Given the description of an element on the screen output the (x, y) to click on. 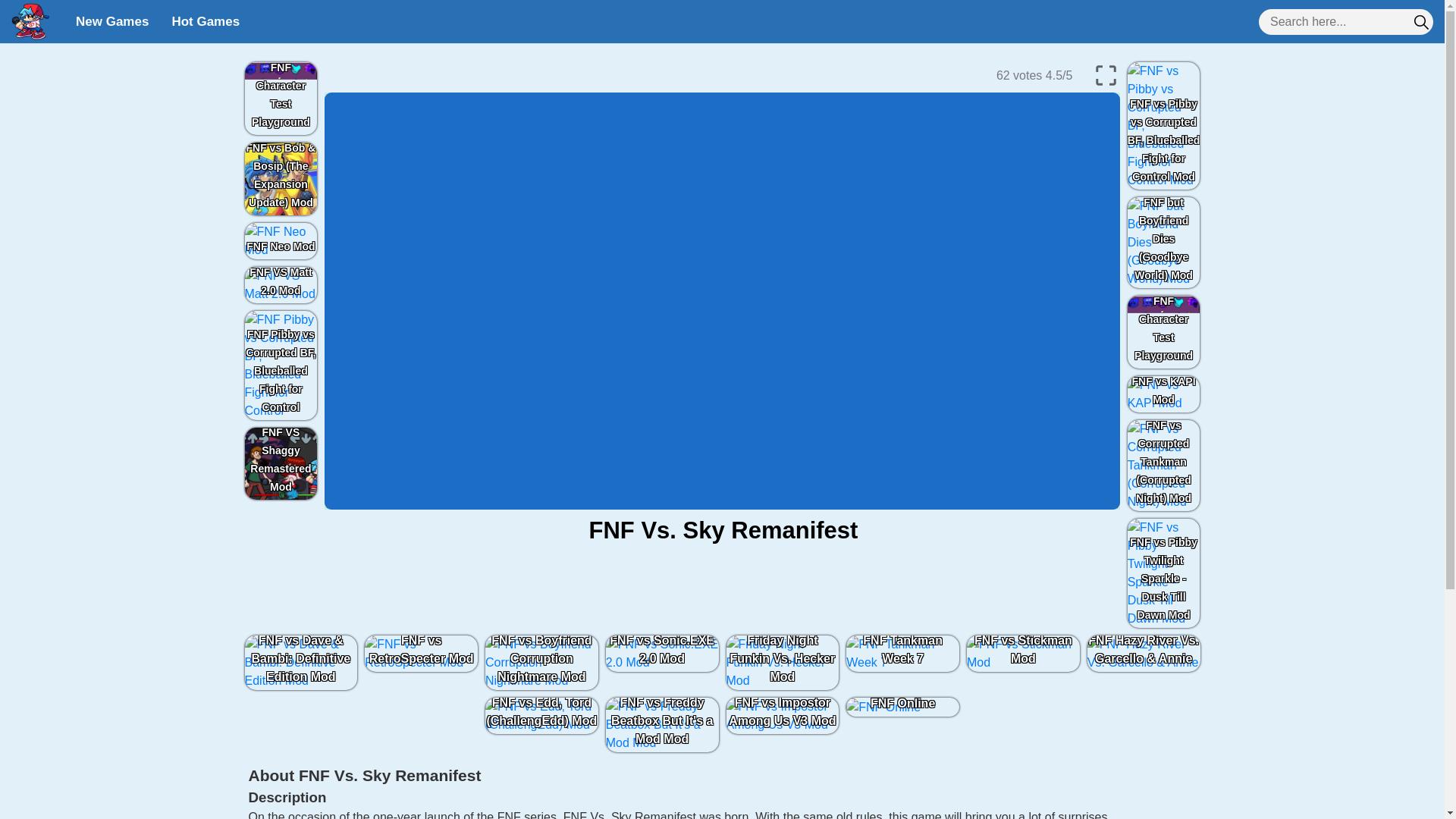
FNF vs RetroSpecter Mod (421, 653)
Hot Games (205, 21)
FNF VS Shaggy Remastered Mod (281, 463)
FNF vs Stickman Mod (1022, 653)
FNF Character Test Playground (281, 98)
FNF Mods (30, 21)
FNF Neo Mod (281, 240)
FNF Neo Mod (280, 240)
FNF Character Test Playground (1164, 331)
Friday Night Funkin Vs. Hecker Mod (782, 662)
FNF Character Test Playground (1162, 331)
FNF vs KAPI Mod (1162, 393)
FNF VS Matt 2.0 Mod (281, 284)
FNF vs KAPI Mod (1164, 393)
FNF vs Sonic.EXE 2.0 Mod (662, 653)
